Given the description of an element on the screen output the (x, y) to click on. 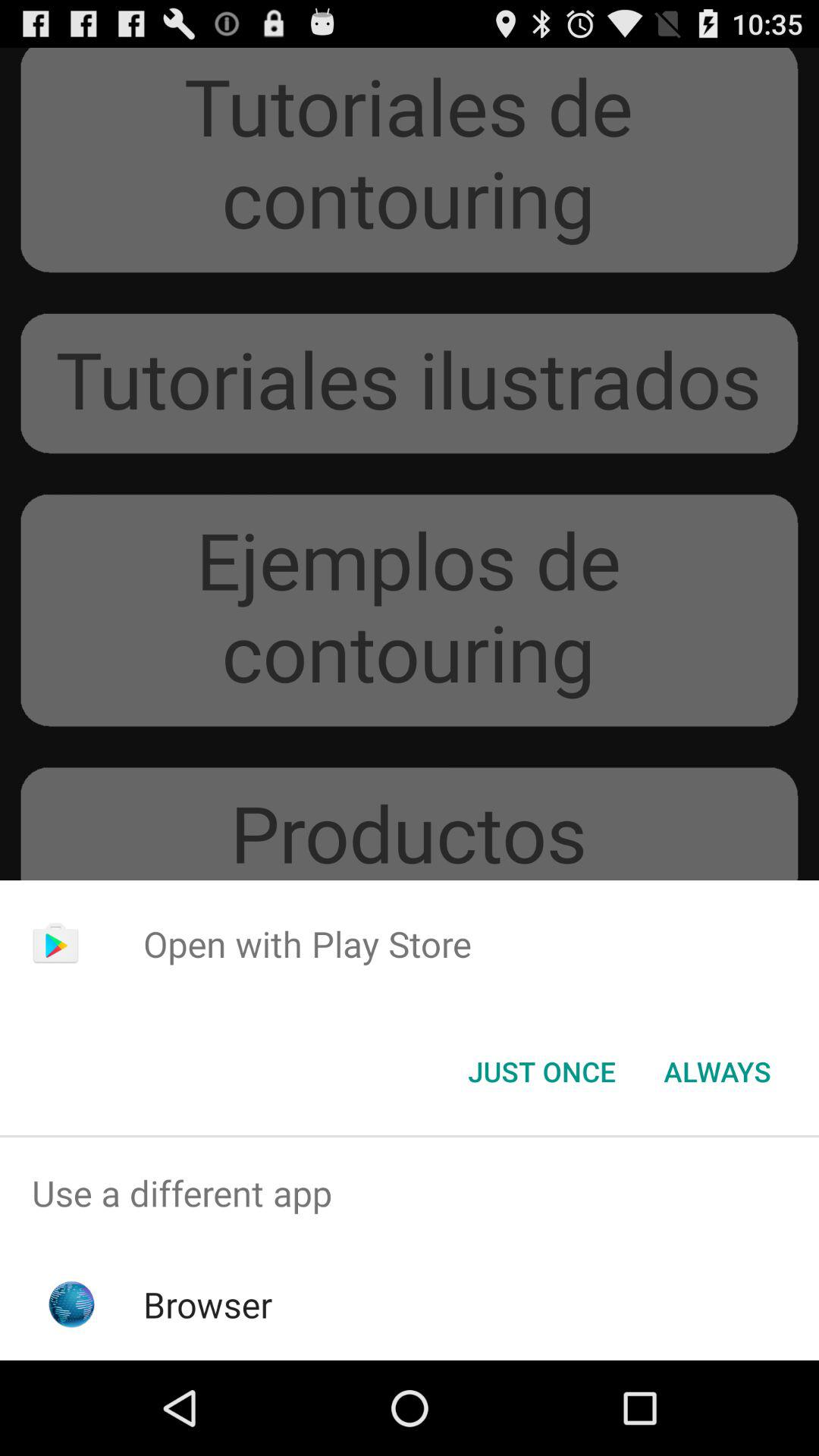
select the item below the use a different app (207, 1304)
